Given the description of an element on the screen output the (x, y) to click on. 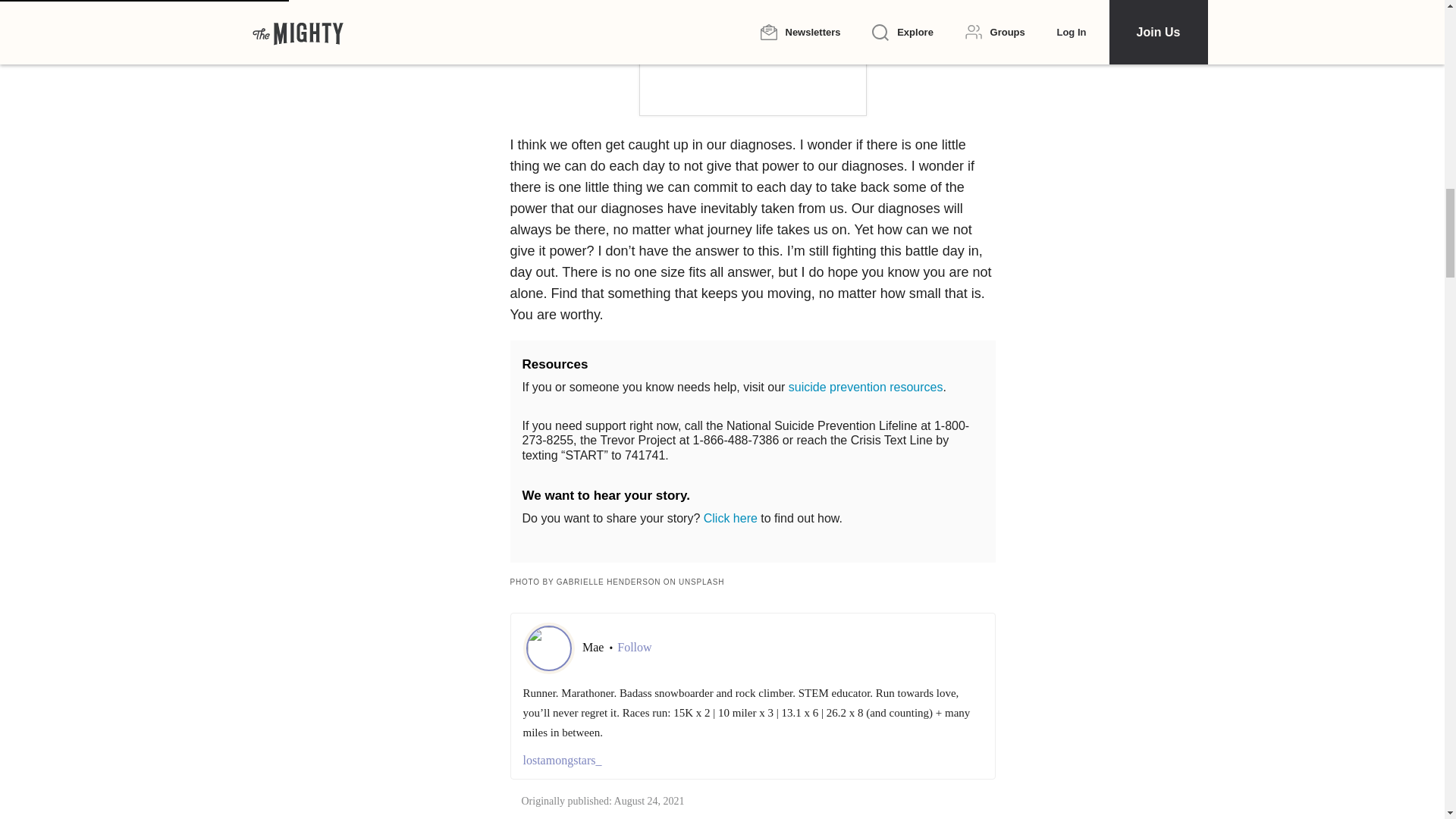
suicide prevention resources (866, 386)
Mae (594, 646)
Follow (633, 647)
Click here (730, 517)
